Given the description of an element on the screen output the (x, y) to click on. 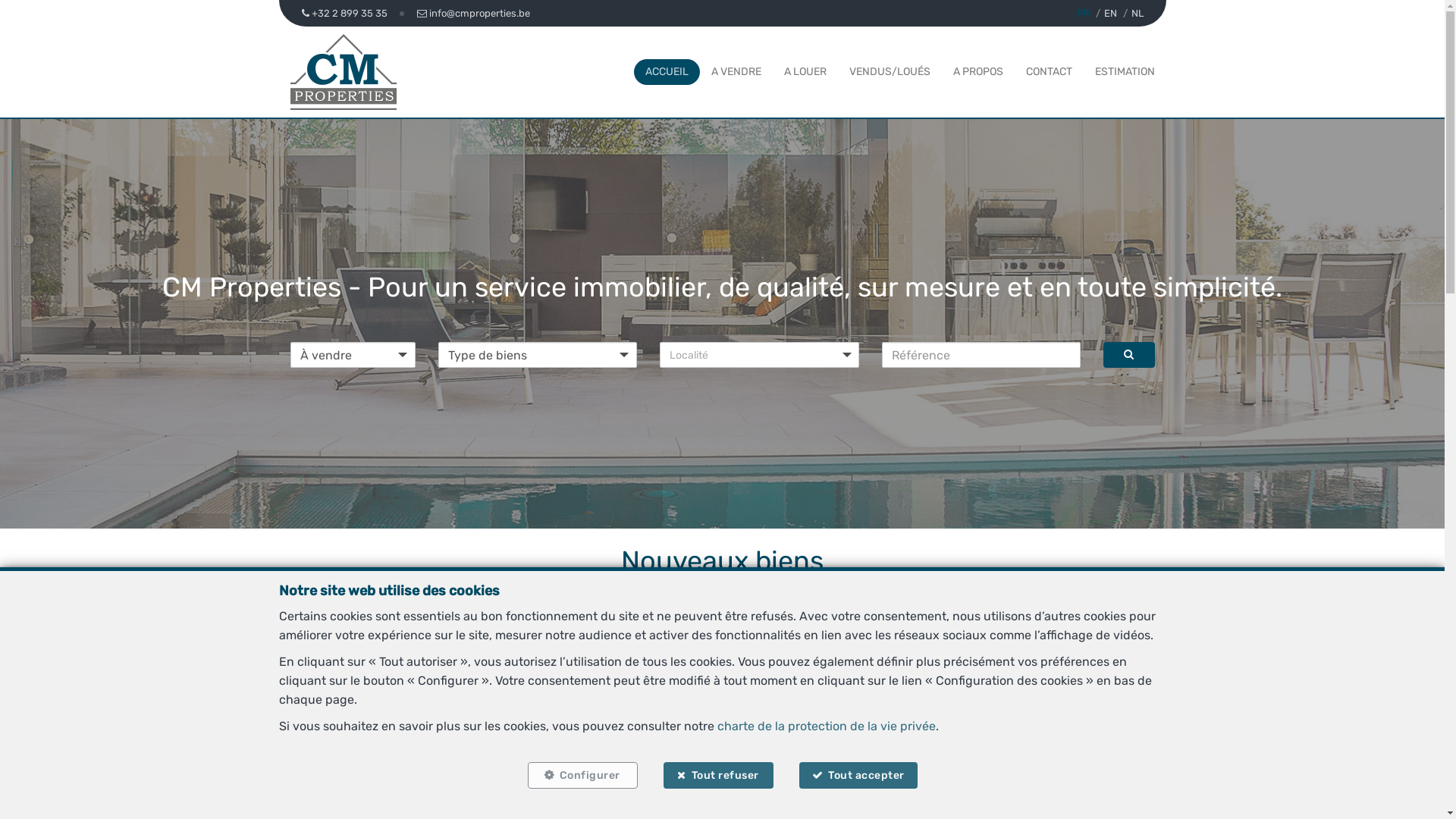
NL Element type: text (1137, 12)
EN Element type: text (1110, 12)
info@cmproperties.be Element type: text (472, 13)
+32 2 899 35 35 Element type: text (345, 13)
ACCUEIL Element type: text (665, 71)
CONTACT Element type: text (1048, 71)
ESTIMATION Element type: text (1124, 71)
Tout refuser Element type: text (717, 775)
A LOUER Element type: text (805, 71)
FR Element type: text (1082, 12)
A PROPOS Element type: text (977, 71)
A VENDRE Element type: text (736, 71)
Configurer Element type: text (582, 775)
Tout accepter Element type: text (858, 775)
